Given the description of an element on the screen output the (x, y) to click on. 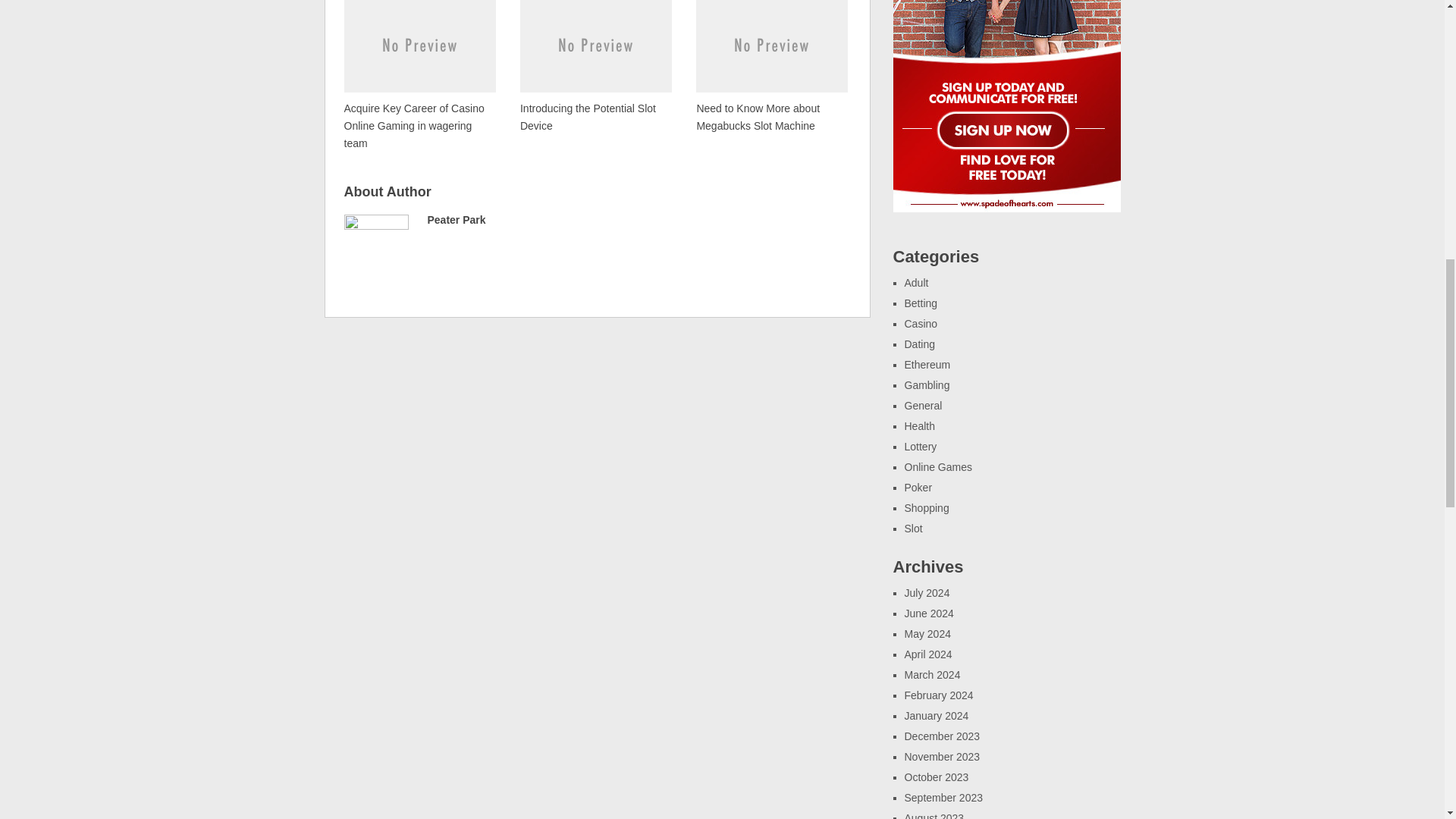
Betting (920, 303)
Gambling (926, 385)
Acquire Key Career of Casino Online Gaming in wagering team (419, 76)
Adult (916, 282)
Introducing the Potential Slot Device (595, 67)
General (923, 405)
Acquire Key Career of Casino Online Gaming in wagering team (419, 76)
Dating (919, 344)
Need to Know More about Megabucks Slot Machine (771, 67)
Introducing the Potential Slot Device (595, 67)
Ethereum (927, 364)
Need to Know More about Megabucks Slot Machine (771, 67)
Casino (920, 323)
